Given the description of an element on the screen output the (x, y) to click on. 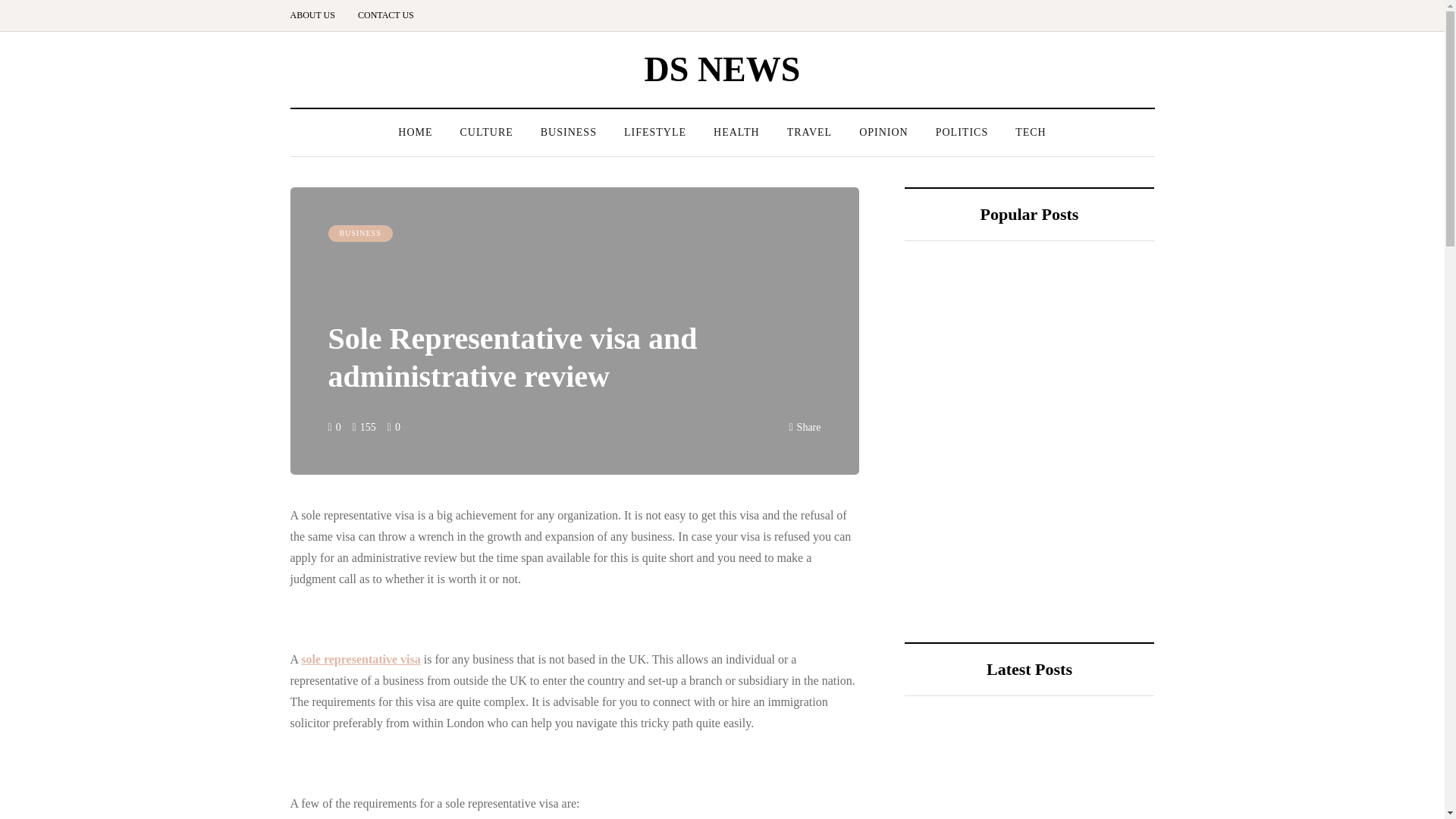
HEALTH (736, 132)
sole representative visa (360, 658)
BUSINESS (359, 233)
LIFESTYLE (655, 132)
POLITICS (961, 132)
HOME (414, 132)
TECH (1030, 132)
BUSINESS (568, 132)
DS NEWS (722, 68)
CONTACT US (385, 15)
